Given the description of an element on the screen output the (x, y) to click on. 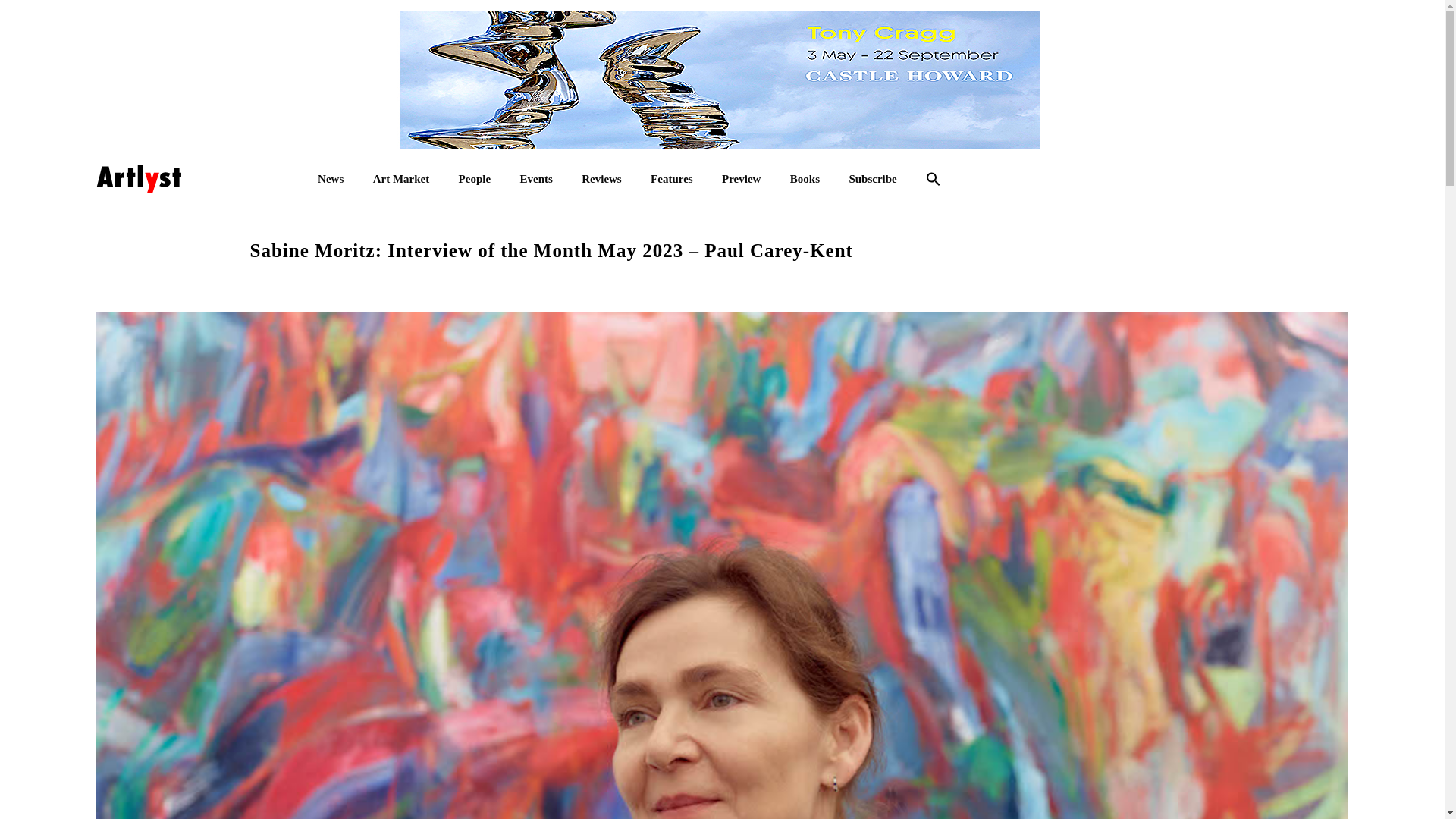
Art Market (400, 178)
Features (671, 178)
Books (804, 178)
Subscribe (872, 178)
Preview (741, 178)
Reviews (600, 178)
Events (535, 178)
People (475, 178)
News (330, 178)
